Given the description of an element on the screen output the (x, y) to click on. 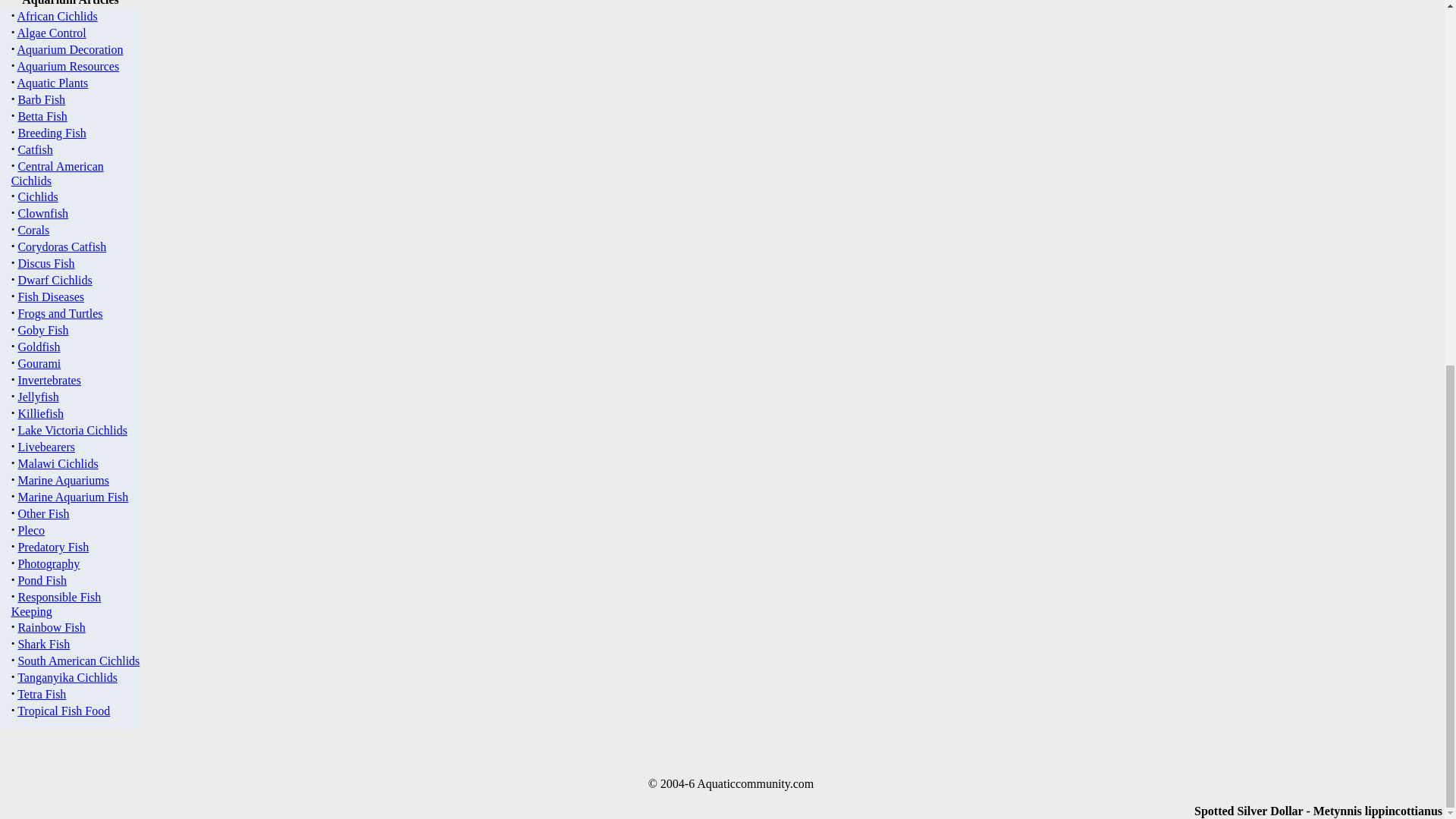
Goldfish (38, 346)
Aquarium Decoration (70, 49)
Fish Diseases (50, 296)
Dwarf Cichlids (54, 279)
Catfish (34, 149)
Aquarium Resources (68, 65)
African Cichlids (57, 15)
Clownfish (42, 213)
Aquatic Plants (52, 82)
Goby Fish (42, 329)
Central American Cichlids (57, 173)
Discus Fish (45, 263)
Corals (33, 229)
Frogs and Turtles (59, 313)
Cichlids (37, 196)
